Given the description of an element on the screen output the (x, y) to click on. 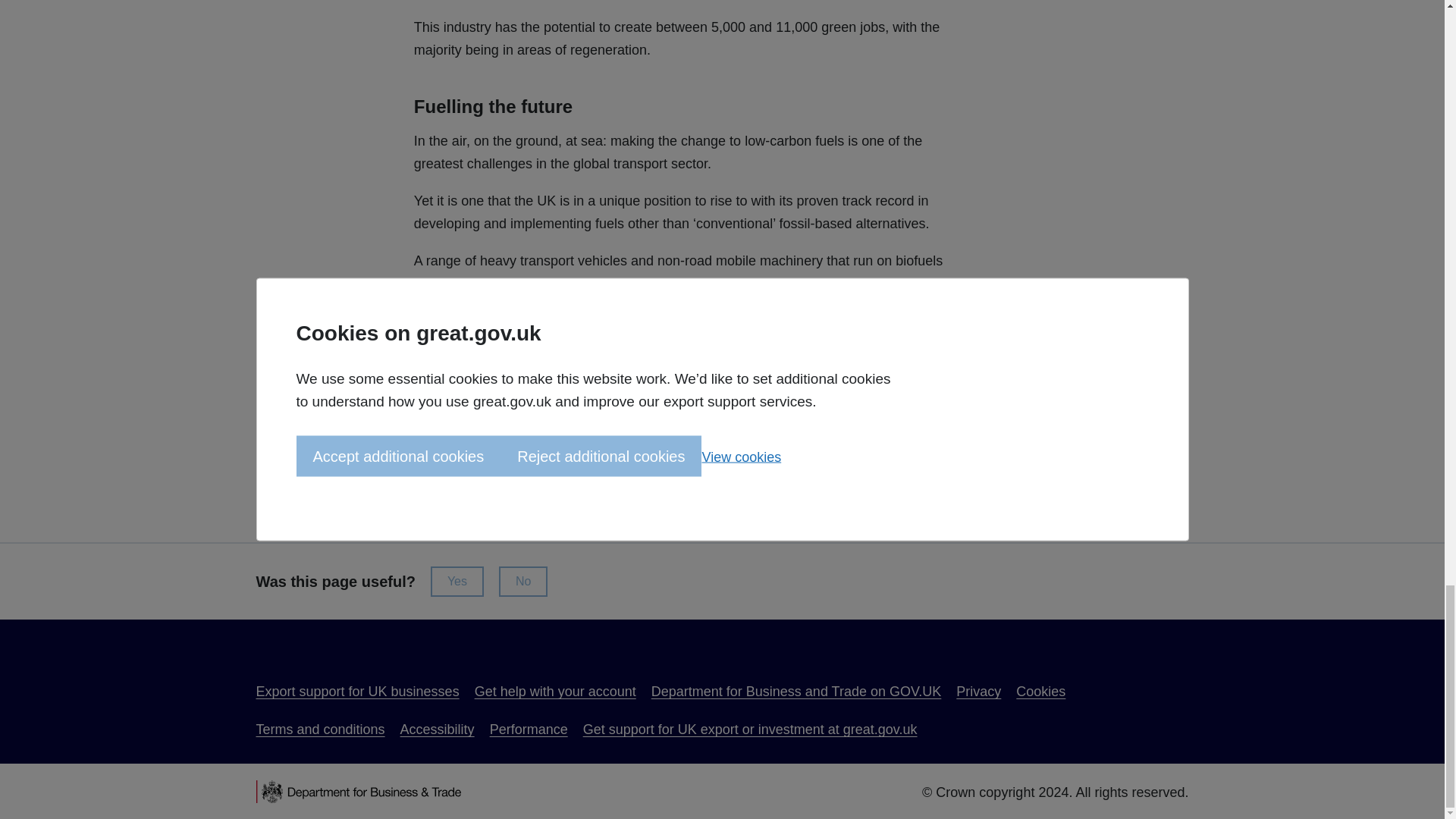
Get support for UK export or investment at great.gov.uk (750, 729)
Terms and conditions (320, 729)
Accessibility (437, 729)
Get help with your account (555, 691)
Privacy (978, 691)
Get help with your account (555, 691)
Performance (528, 729)
Department for Business and Trade on GOV.UK (796, 691)
Export support for UK businesses (358, 691)
Department for Business and Trade on GOV.UK (796, 691)
